Given the description of an element on the screen output the (x, y) to click on. 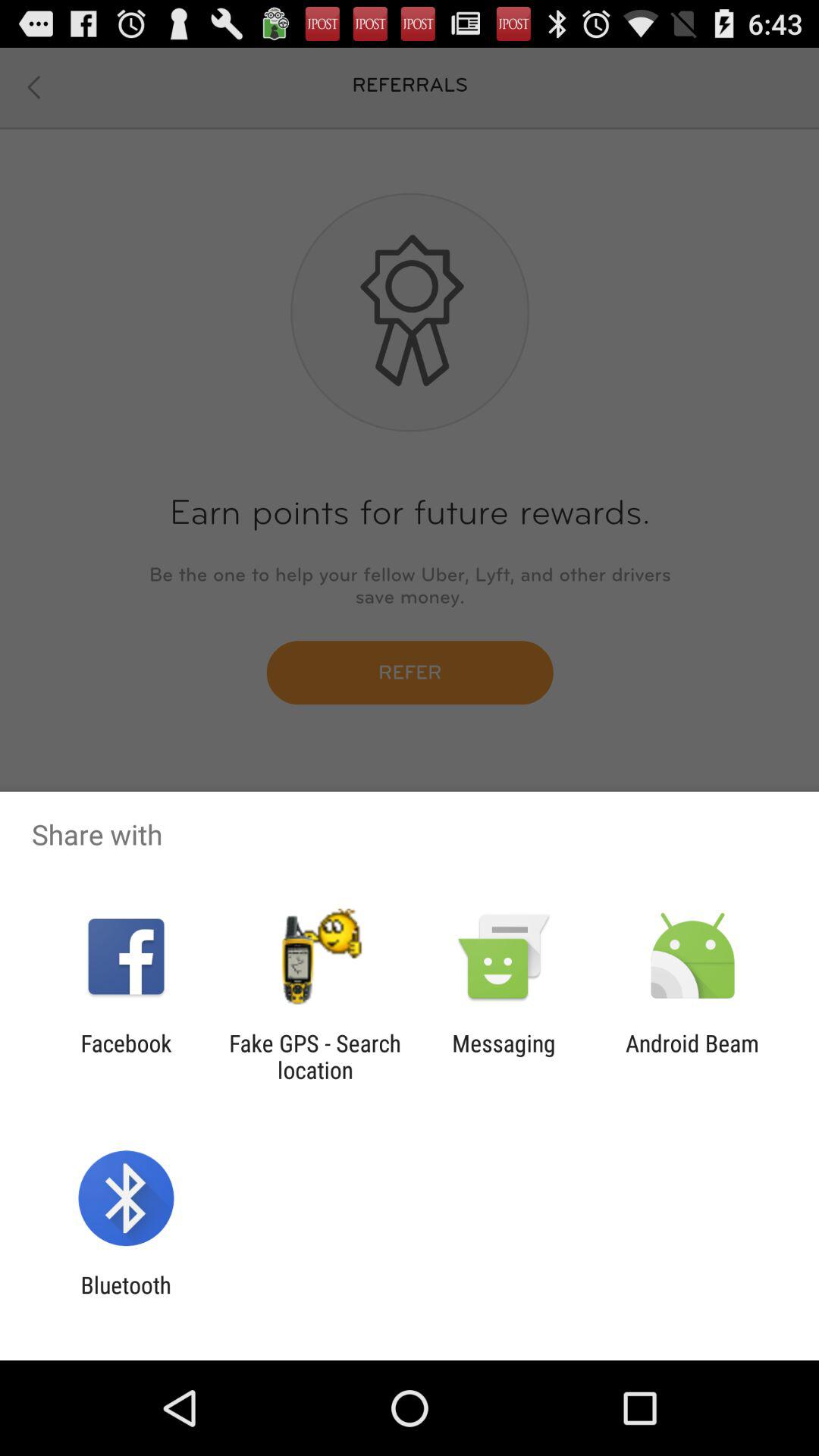
flip to facebook item (125, 1056)
